Given the description of an element on the screen output the (x, y) to click on. 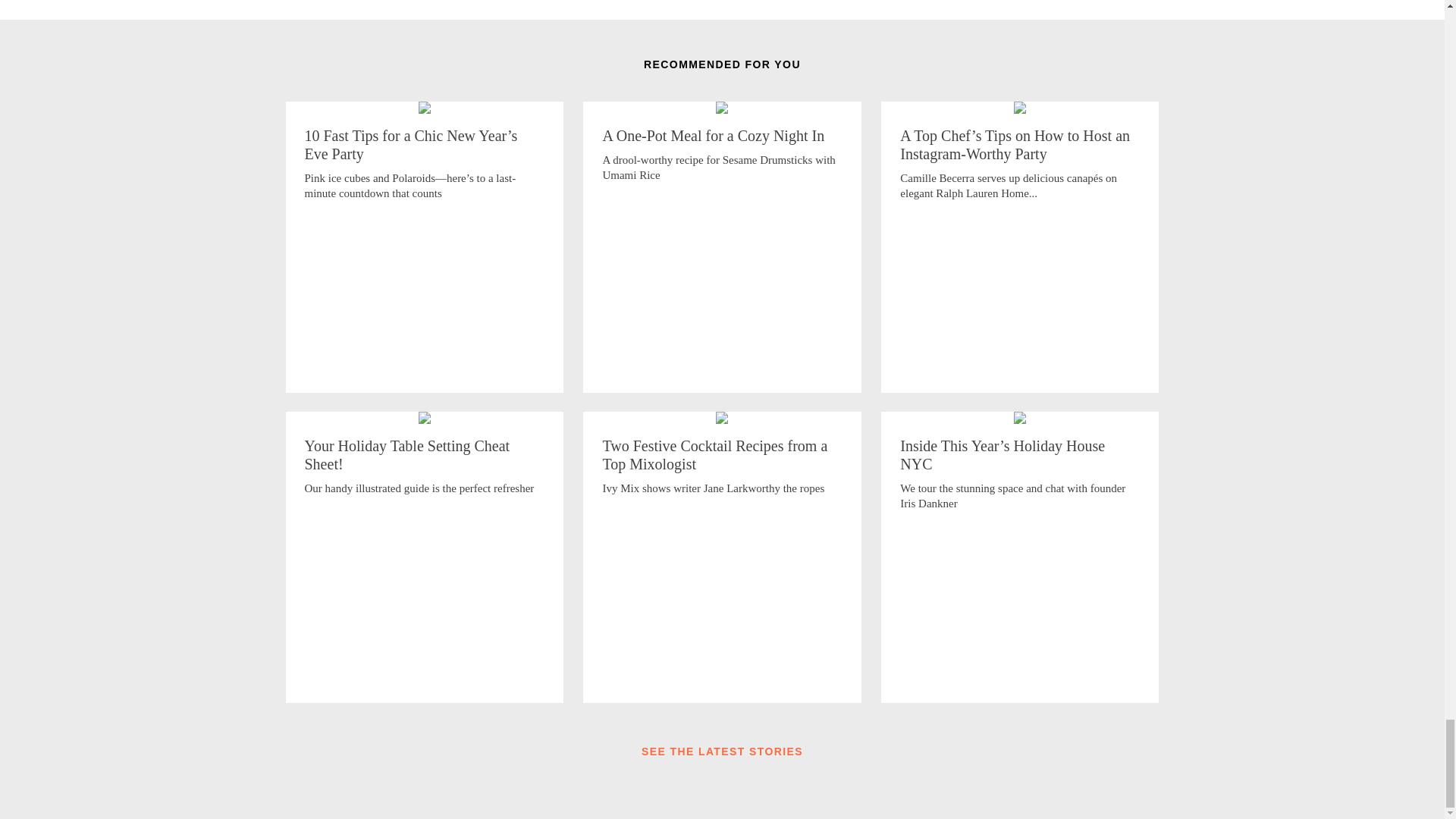
Post Comment (721, 328)
SEE THE LATEST STORIES (721, 747)
